Given the description of an element on the screen output the (x, y) to click on. 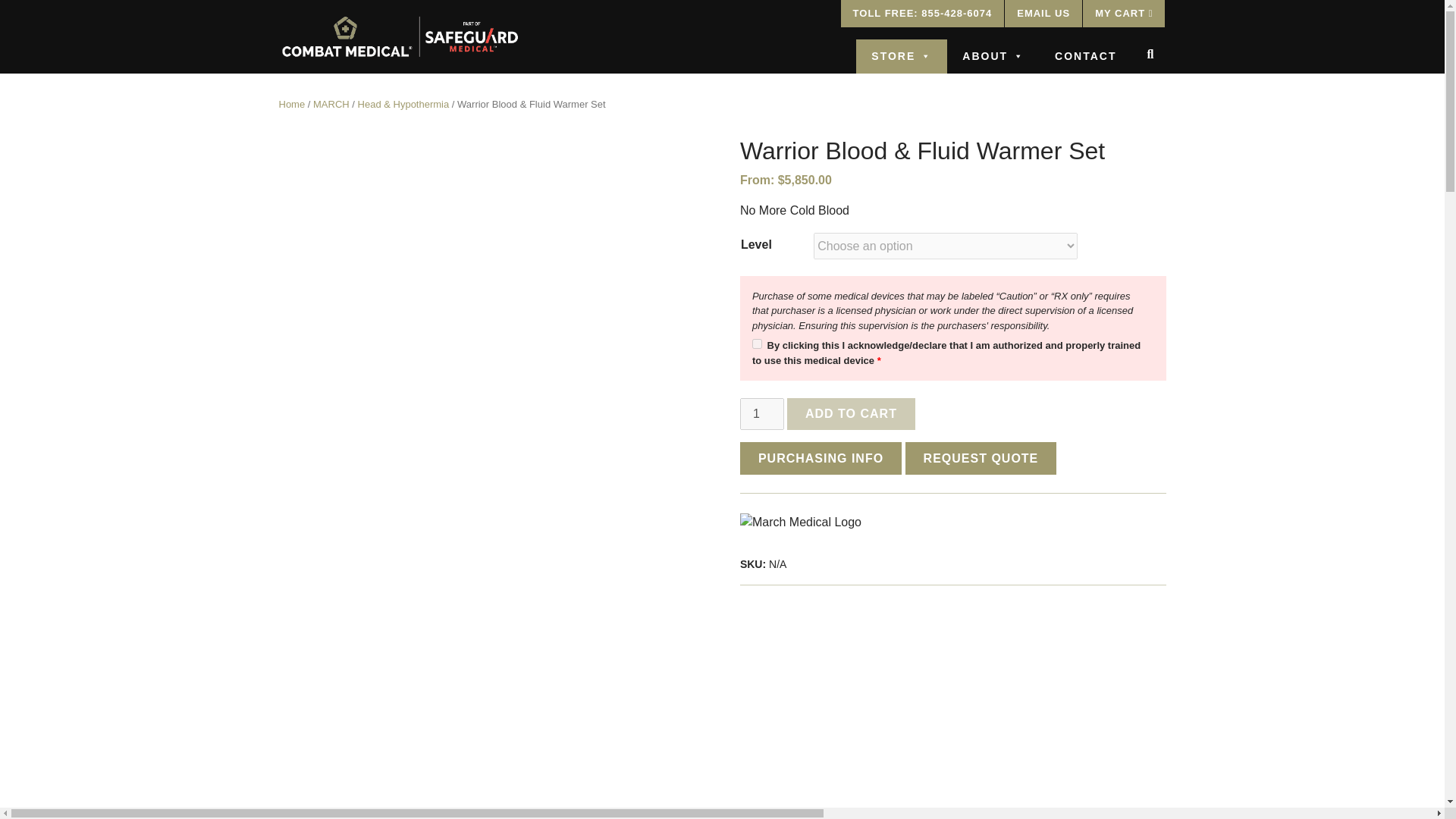
1 (756, 343)
Combat Medical (322, 80)
TOLL FREE: 855-428-6074 (922, 13)
1 (761, 413)
MY CART (1123, 13)
STORE (901, 56)
EMAIL US (1042, 13)
View your shopping cart (1123, 13)
